Given the description of an element on the screen output the (x, y) to click on. 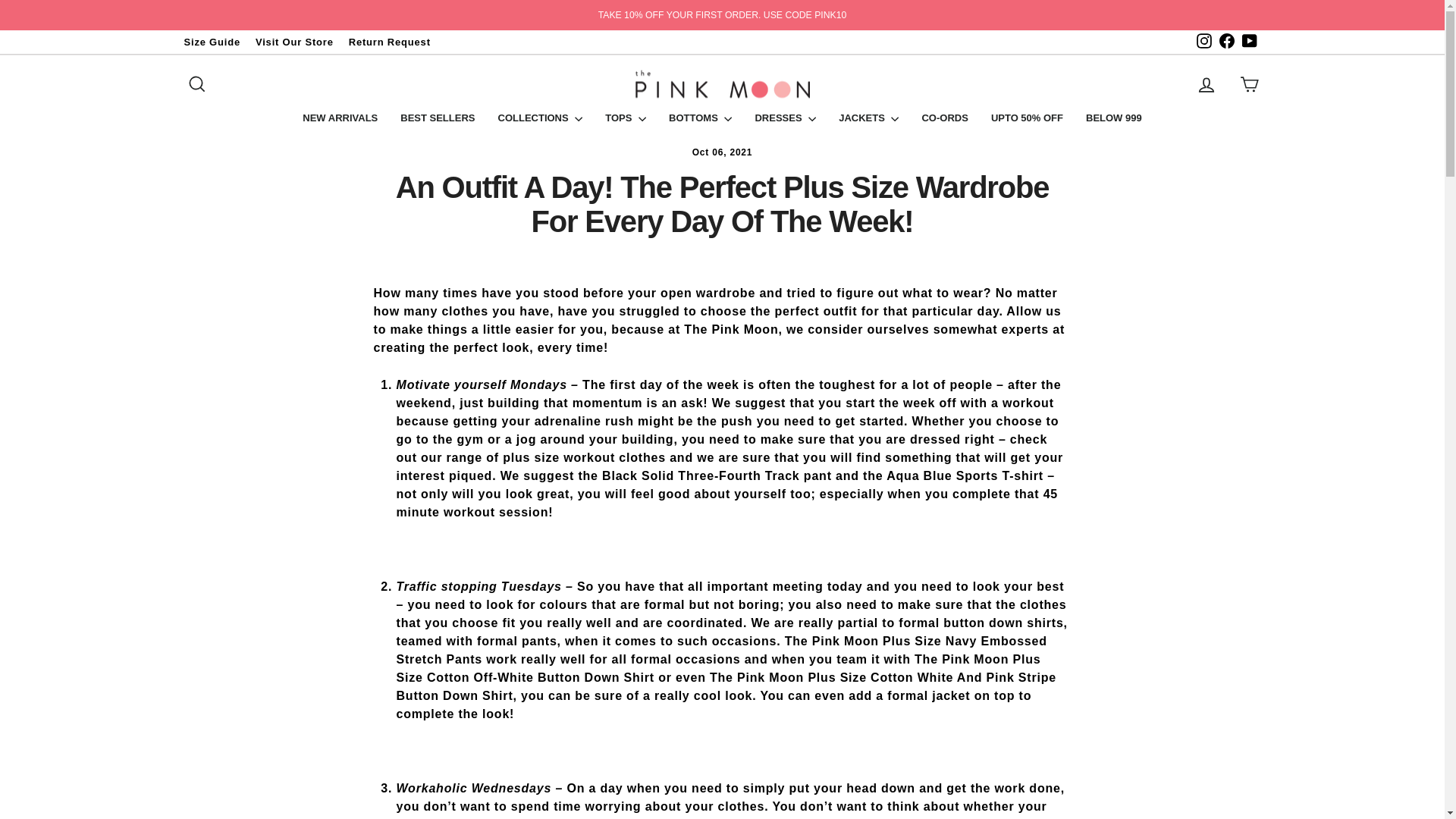
instagram (1203, 40)
The Pink Moon on Facebook (1225, 41)
ACCOUNT (1205, 84)
The Pink Moon on Instagram (1203, 41)
ICON-SEARCH (197, 84)
The Pink Moon on YouTube (1248, 41)
